Given the description of an element on the screen output the (x, y) to click on. 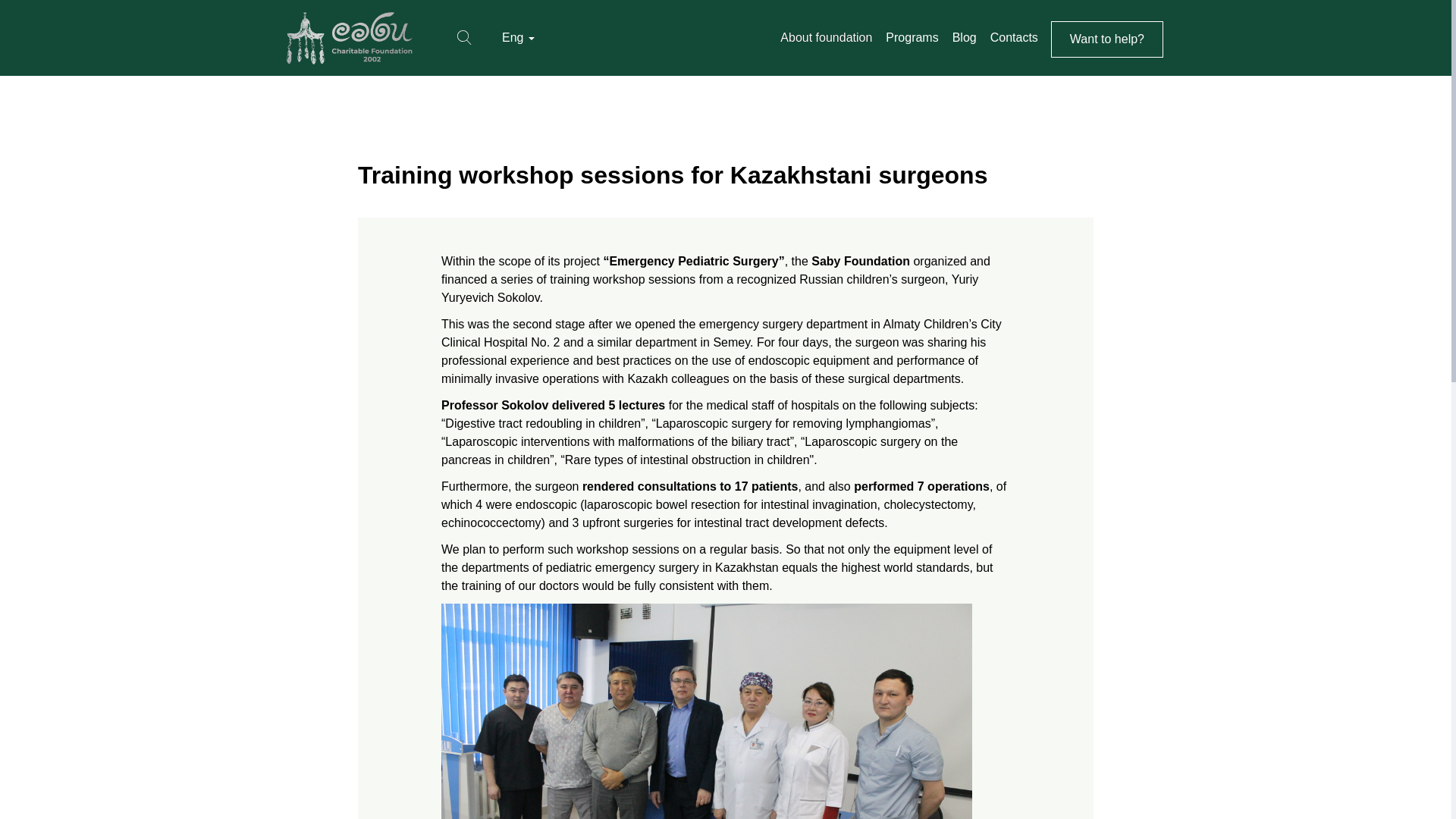
Contacts (1014, 37)
About foundation (825, 37)
Programs (912, 37)
Want to help? (1107, 39)
